Given the description of an element on the screen output the (x, y) to click on. 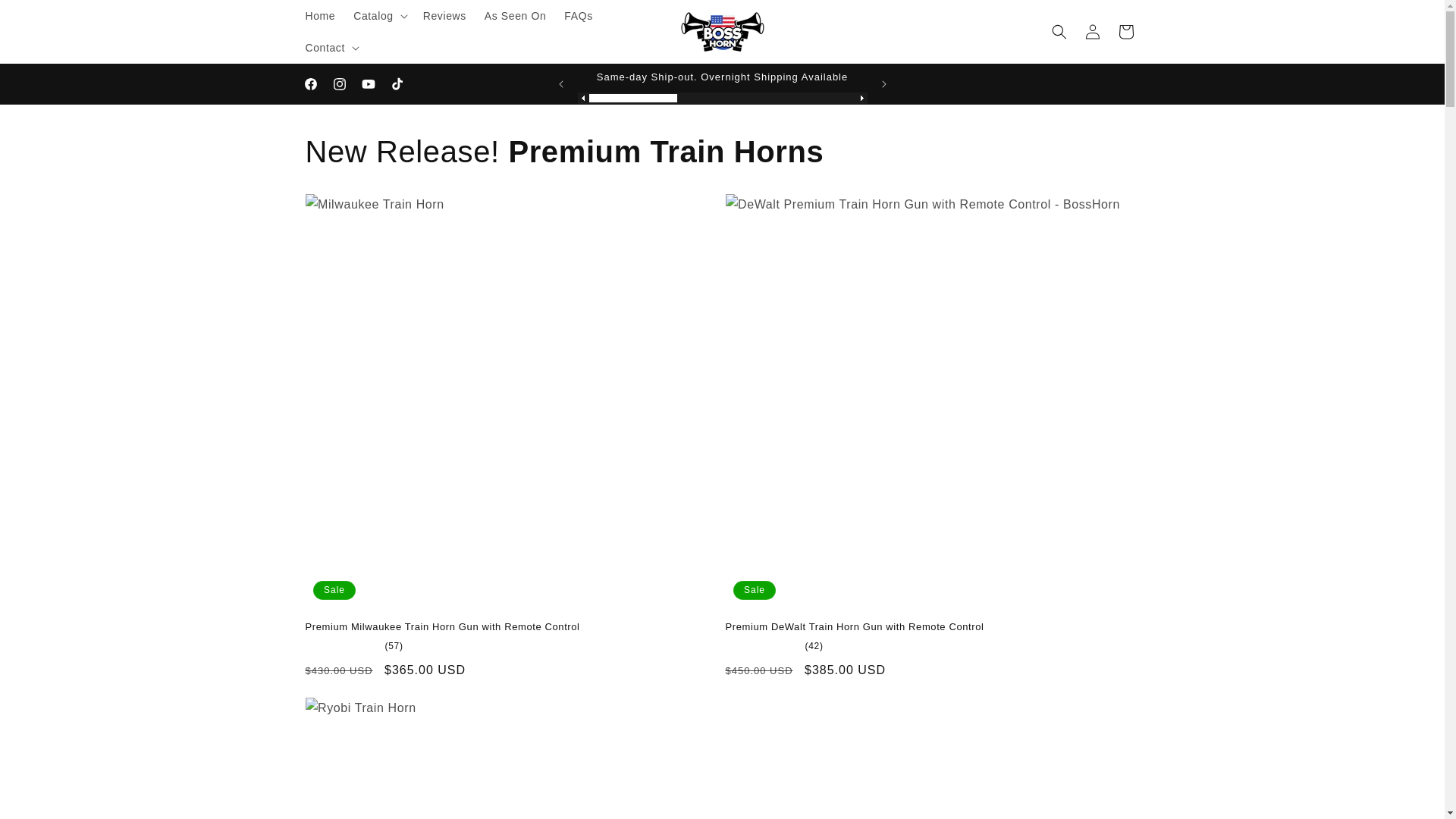
Reviews (444, 15)
As Seen On (516, 15)
Skip to content (47, 18)
Home (319, 15)
